Given the description of an element on the screen output the (x, y) to click on. 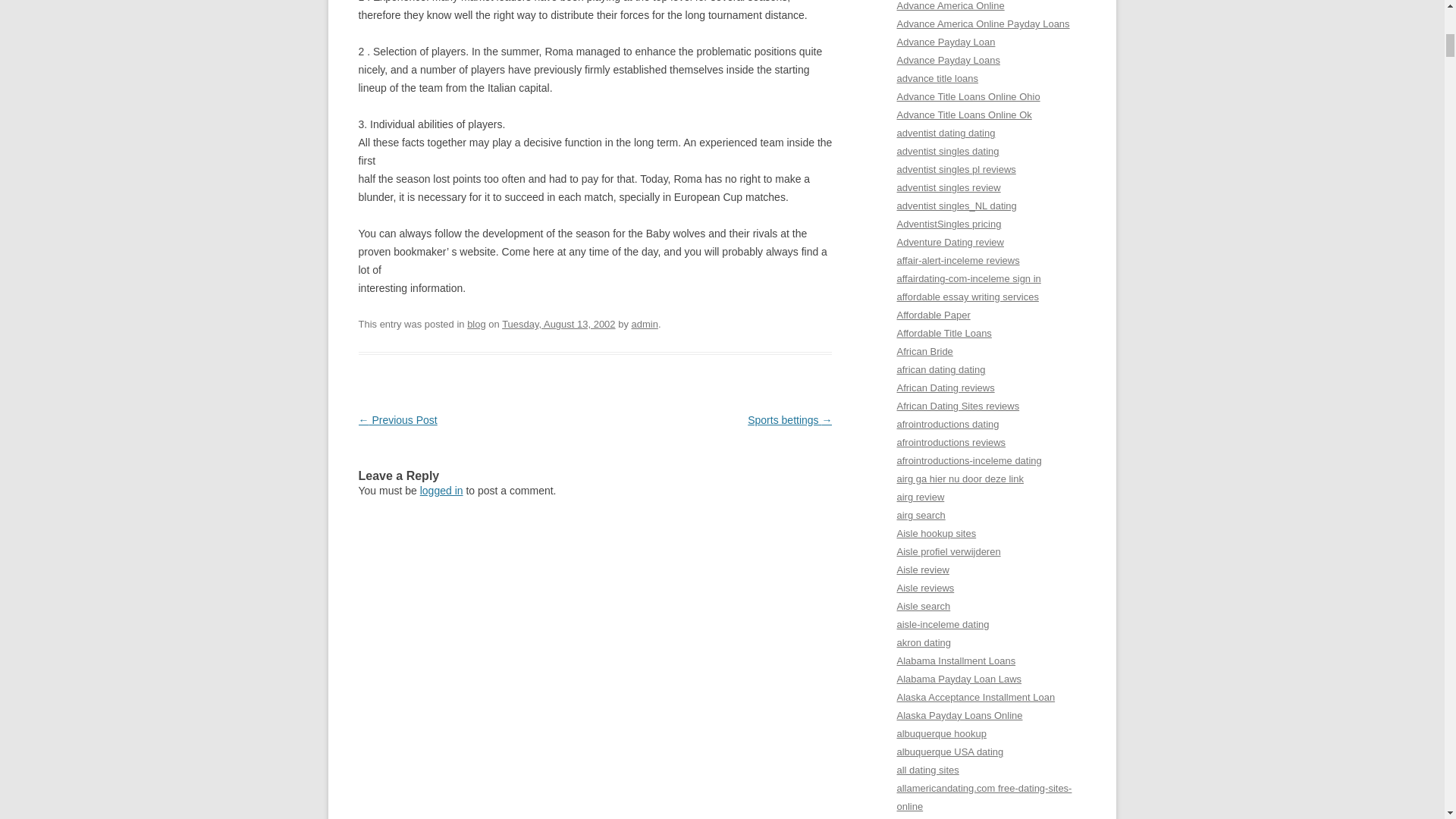
blog (476, 324)
admin (644, 324)
logged in (441, 490)
View all posts by admin (644, 324)
Tuesday, August 13, 2002 (558, 324)
06:08 (558, 324)
